Given the description of an element on the screen output the (x, y) to click on. 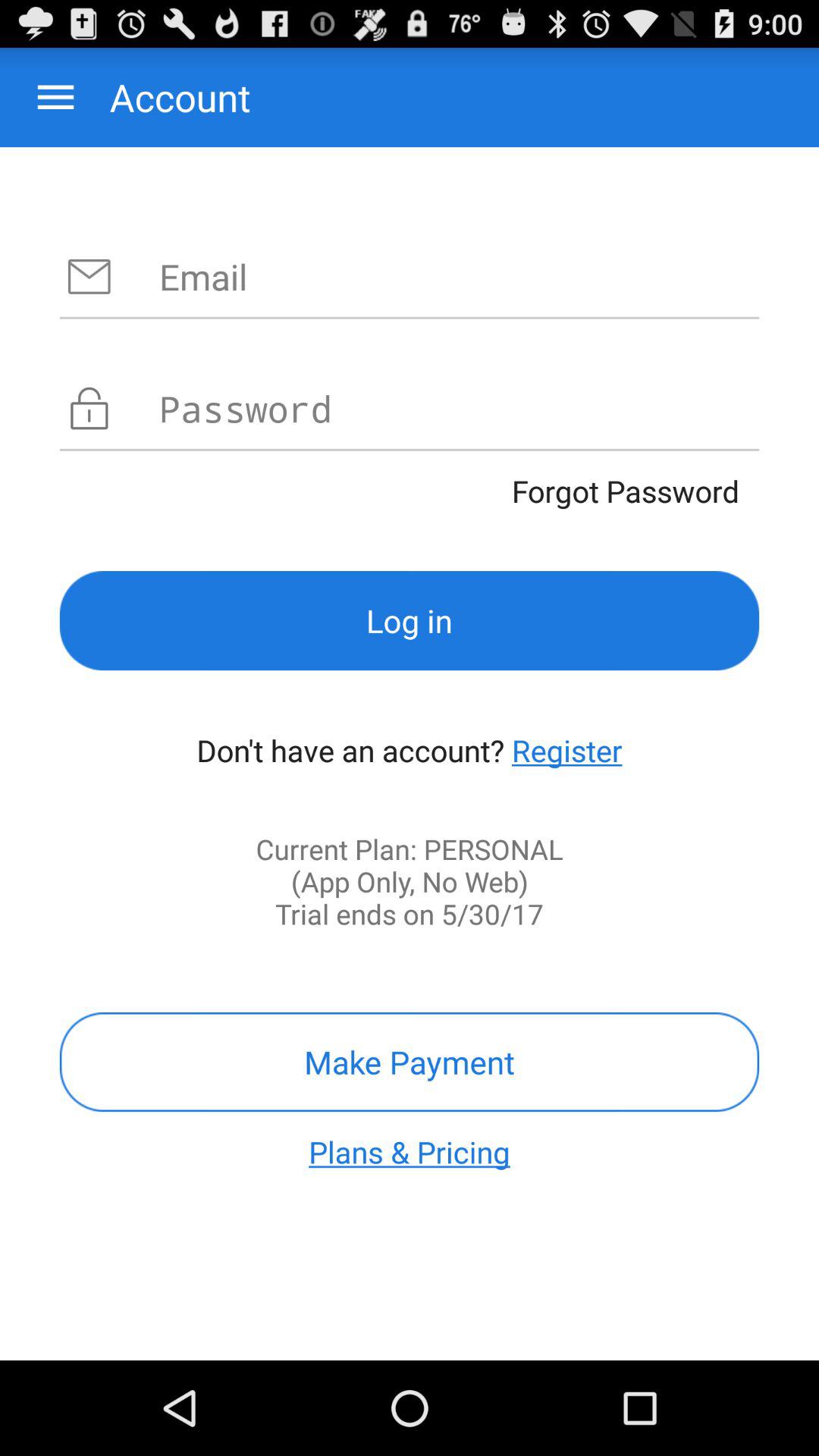
turn on the forgot password app (409, 490)
